Given the description of an element on the screen output the (x, y) to click on. 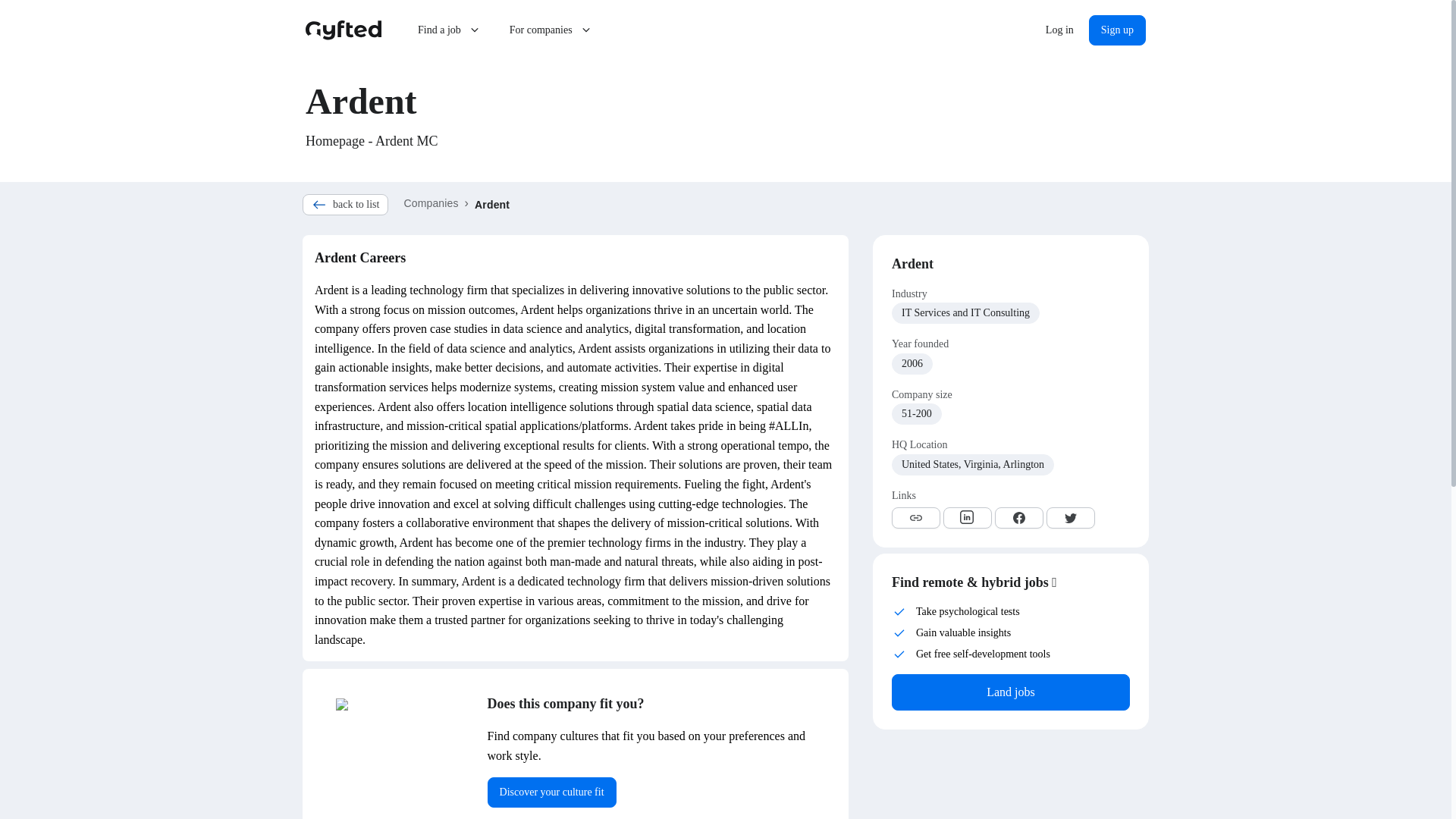
Land jobs (1010, 692)
Companies (430, 203)
Discover your culture fit (551, 792)
back to list (345, 204)
Find a job (450, 30)
For companies (551, 30)
Log in (1059, 30)
Sign up (1117, 30)
